Given the description of an element on the screen output the (x, y) to click on. 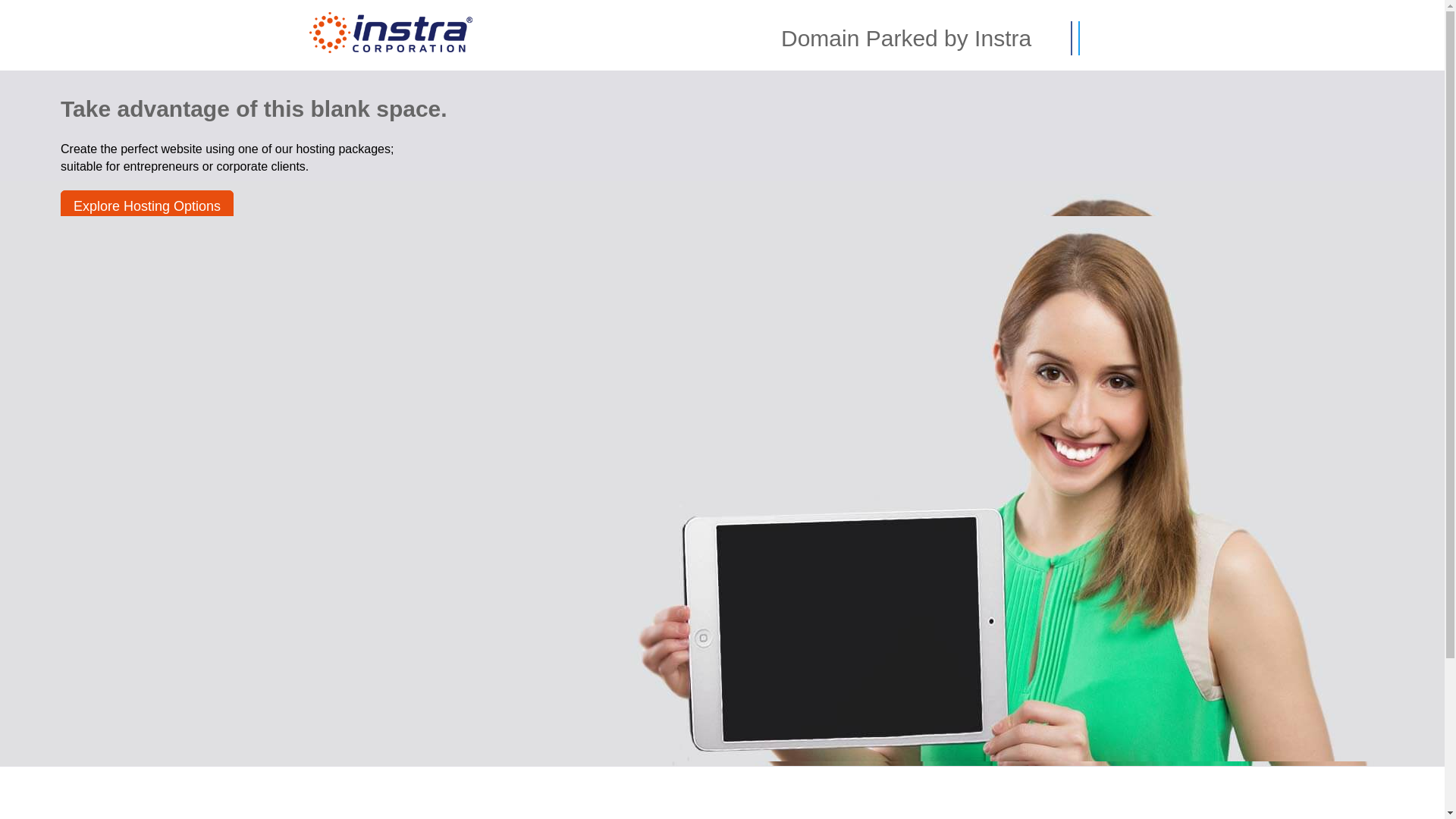
Explore Hosting Options Element type: text (146, 206)
